Given the description of an element on the screen output the (x, y) to click on. 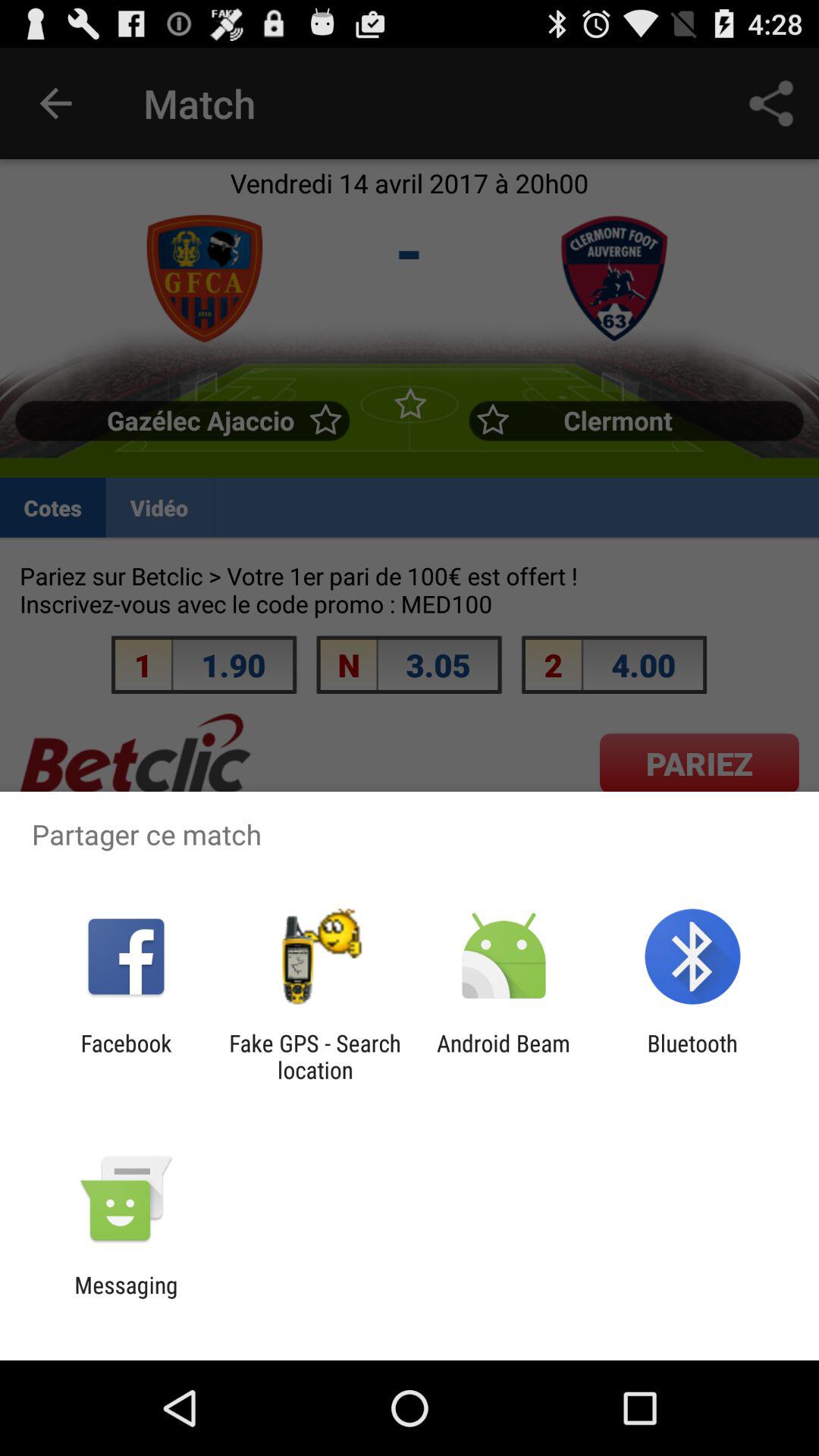
launch messaging (126, 1298)
